Given the description of an element on the screen output the (x, y) to click on. 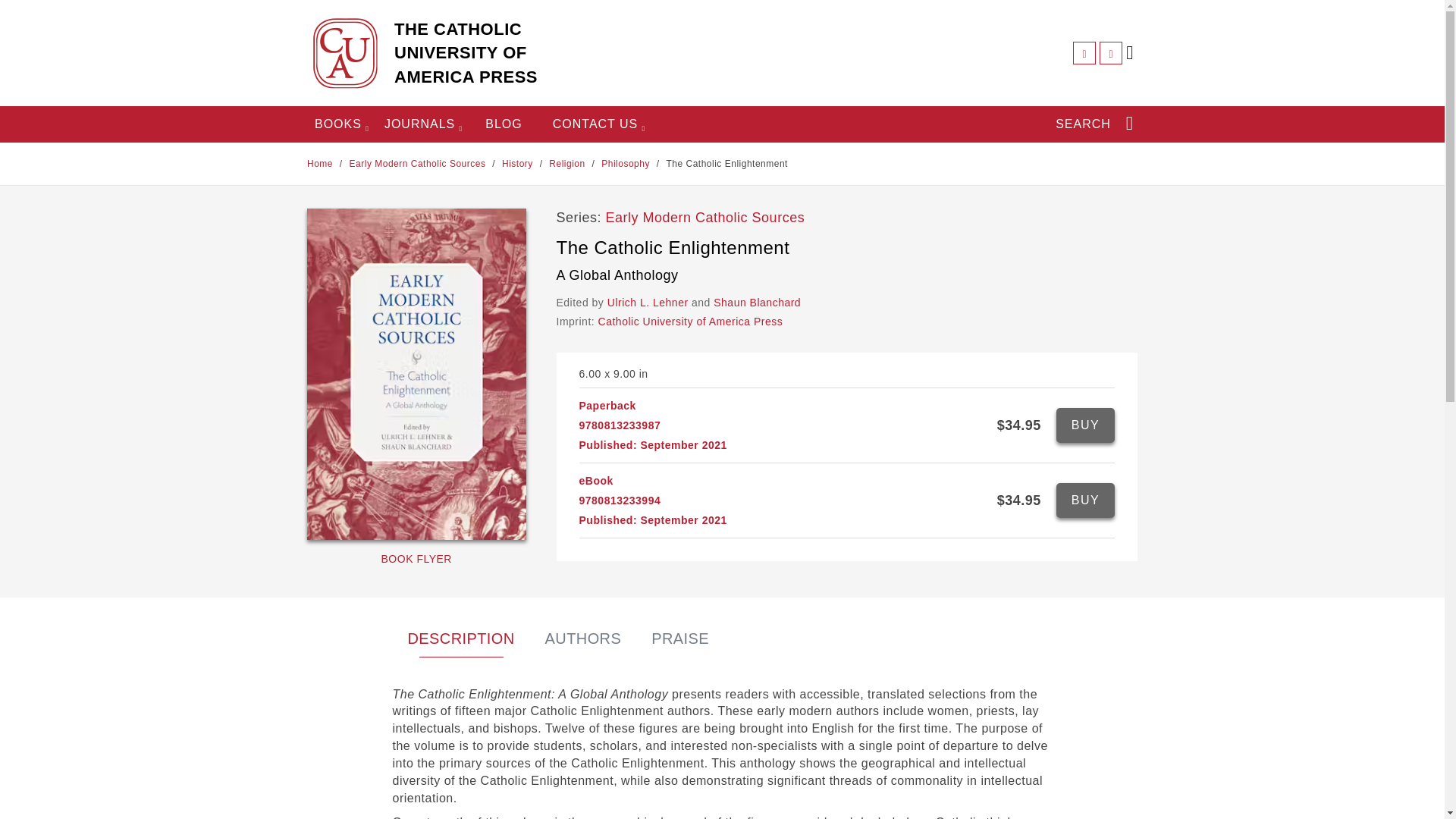
Back to homepage (320, 163)
BOOKS (337, 124)
Follow us on Facebook (1084, 52)
View results for religion (566, 163)
Paperback (1086, 425)
JOURNALS (419, 124)
View results for history (517, 163)
eBook (1086, 500)
View results for philosophy (625, 163)
View results for Early Modern Catholic Sources (419, 163)
